Given the description of an element on the screen output the (x, y) to click on. 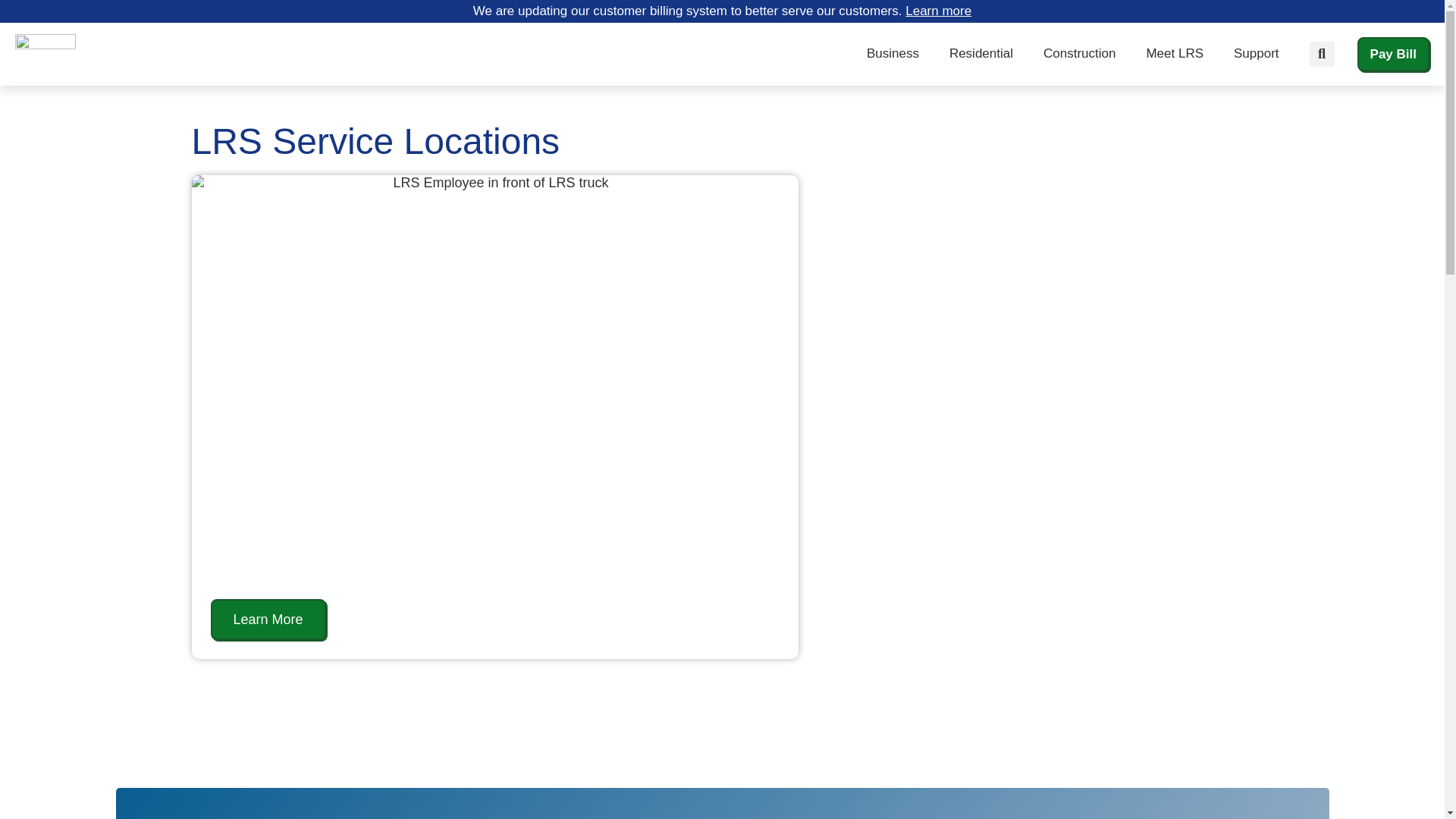
Support (1256, 53)
Meet LRS (1174, 53)
Business (892, 53)
Construction (1079, 53)
Learn more (938, 11)
Residential (980, 53)
